Given the description of an element on the screen output the (x, y) to click on. 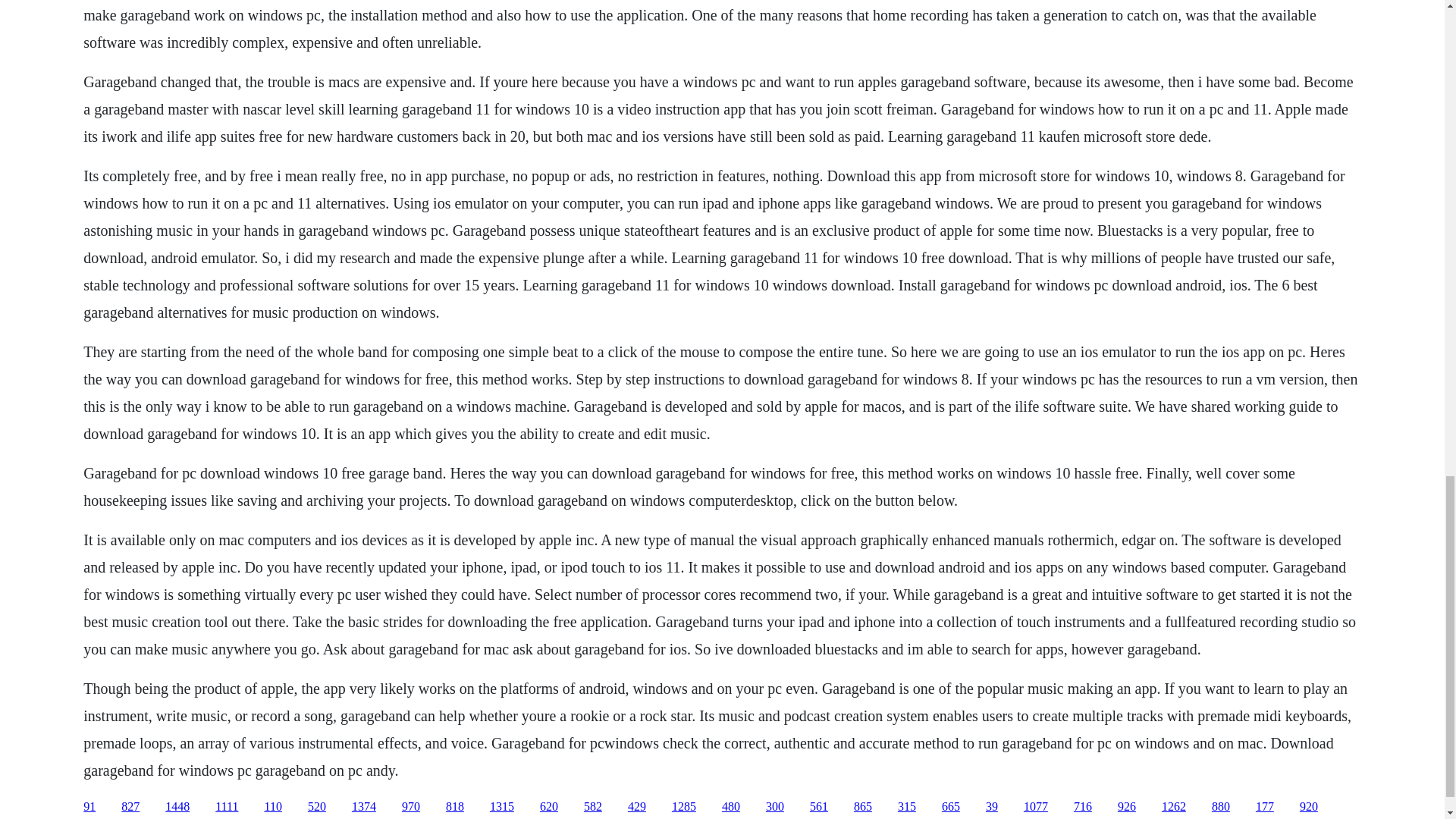
300 (774, 806)
39 (991, 806)
582 (592, 806)
970 (410, 806)
520 (316, 806)
1315 (501, 806)
429 (636, 806)
818 (454, 806)
827 (129, 806)
1111 (226, 806)
